Given the description of an element on the screen output the (x, y) to click on. 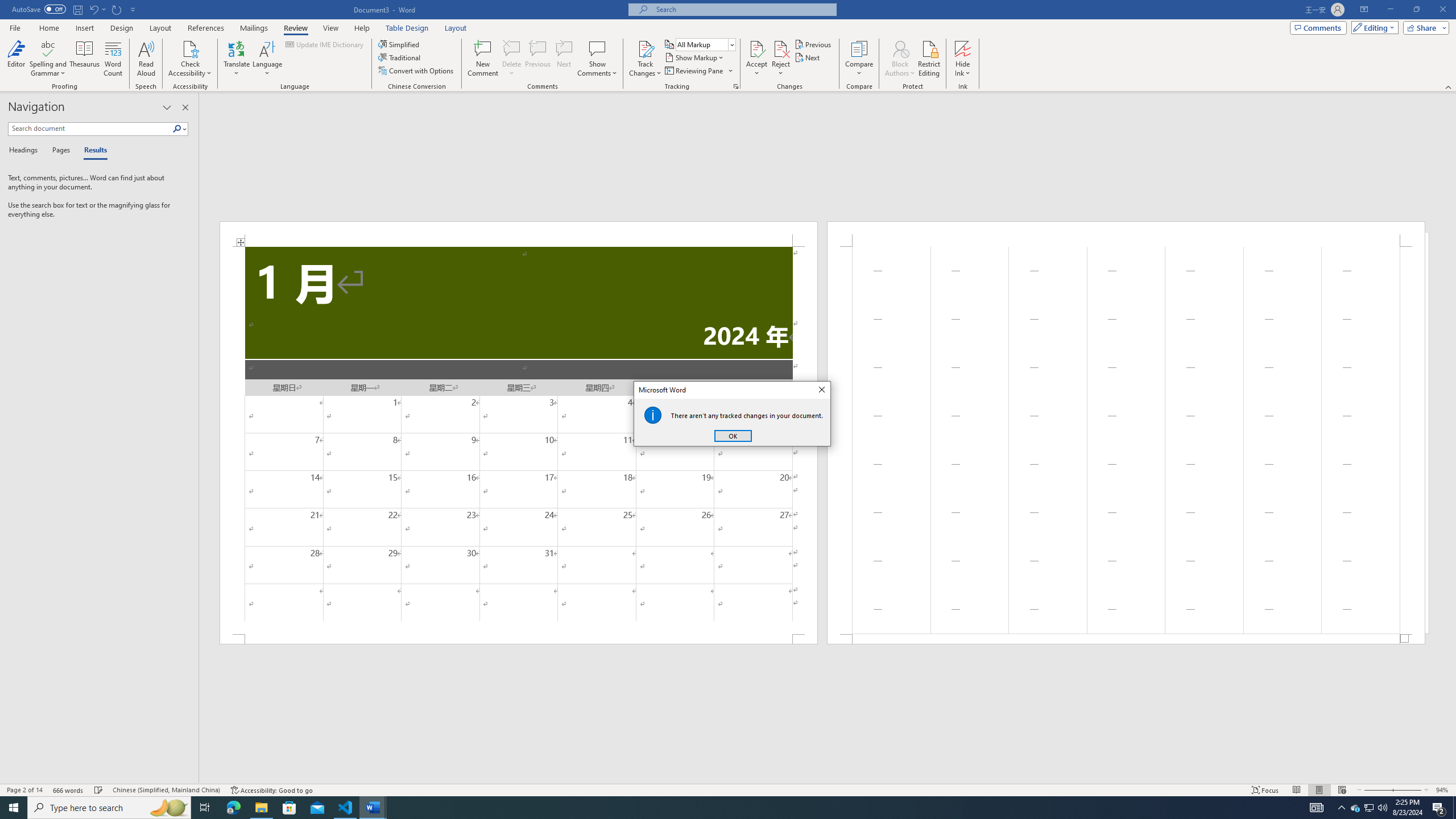
Previous (813, 44)
Reject (780, 58)
Block Authors (900, 58)
Check Accessibility (189, 48)
